Given the description of an element on the screen output the (x, y) to click on. 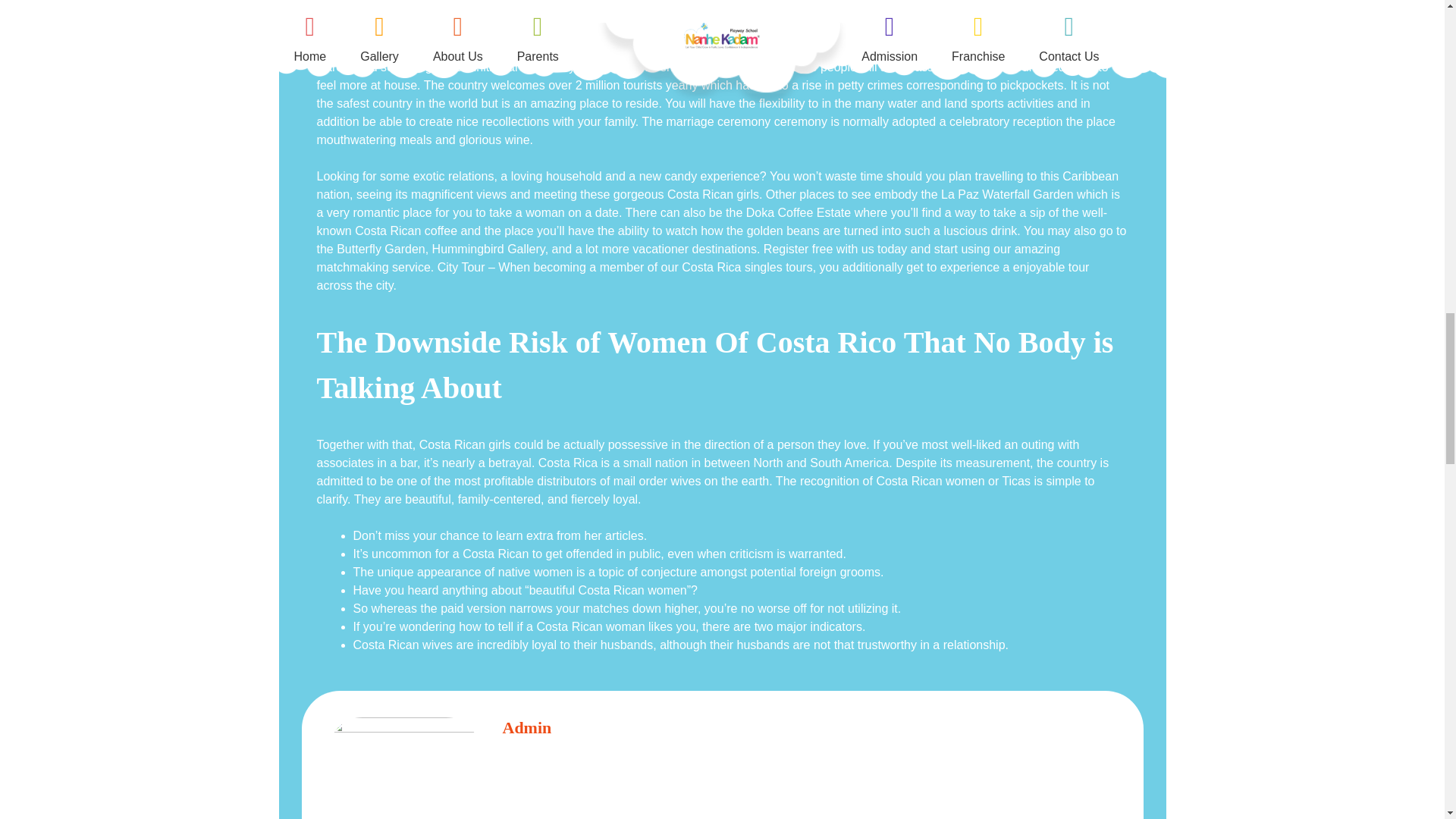
Posts  admin (526, 727)
Admin (526, 727)
